Given the description of an element on the screen output the (x, y) to click on. 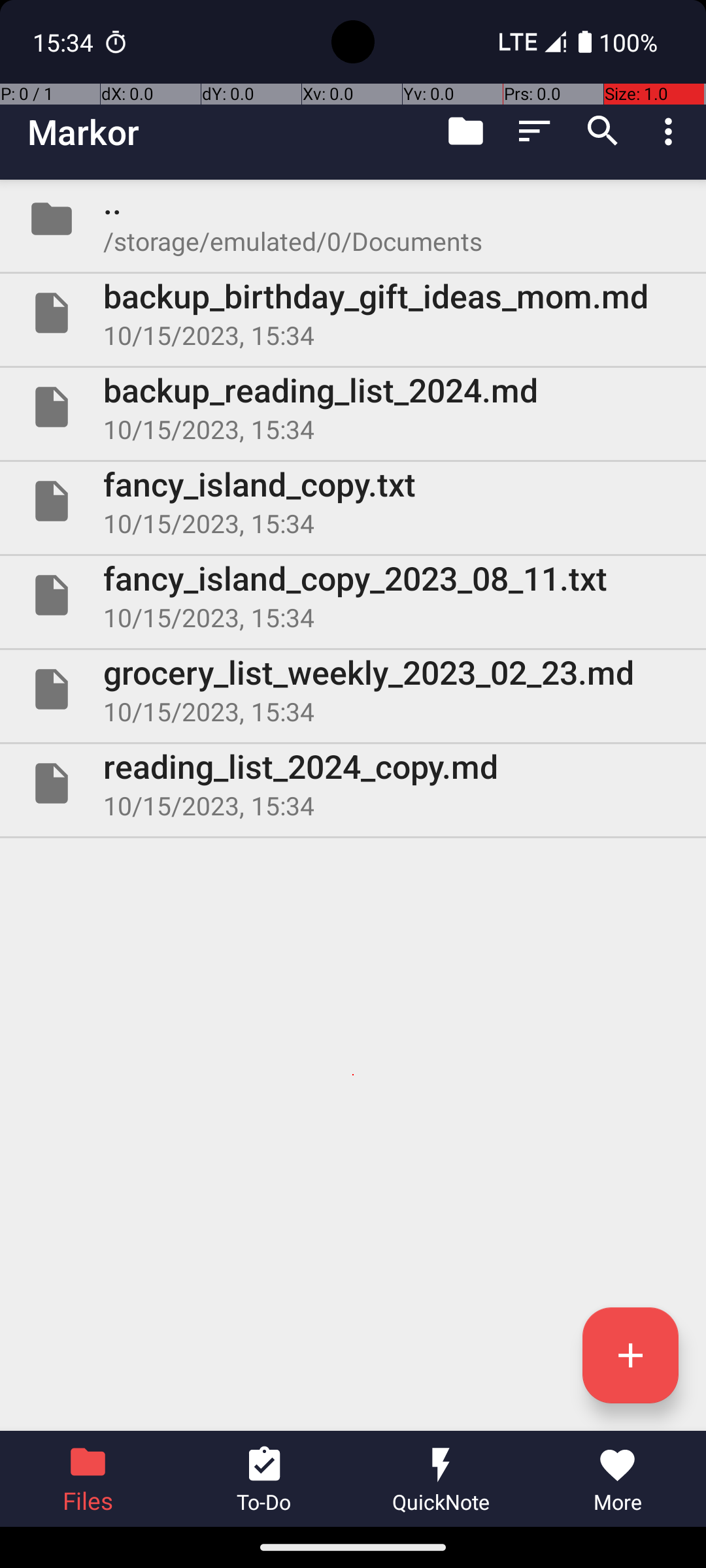
File backup_birthday_gift_ideas_mom.md  Element type: android.widget.LinearLayout (353, 312)
File backup_reading_list_2024.md  Element type: android.widget.LinearLayout (353, 406)
File fancy_island_copy.txt  Element type: android.widget.LinearLayout (353, 500)
File fancy_island_copy_2023_08_11.txt  Element type: android.widget.LinearLayout (353, 594)
File grocery_list_weekly_2023_02_23.md  Element type: android.widget.LinearLayout (353, 689)
File reading_list_2024_copy.md  Element type: android.widget.LinearLayout (353, 783)
